Given the description of an element on the screen output the (x, y) to click on. 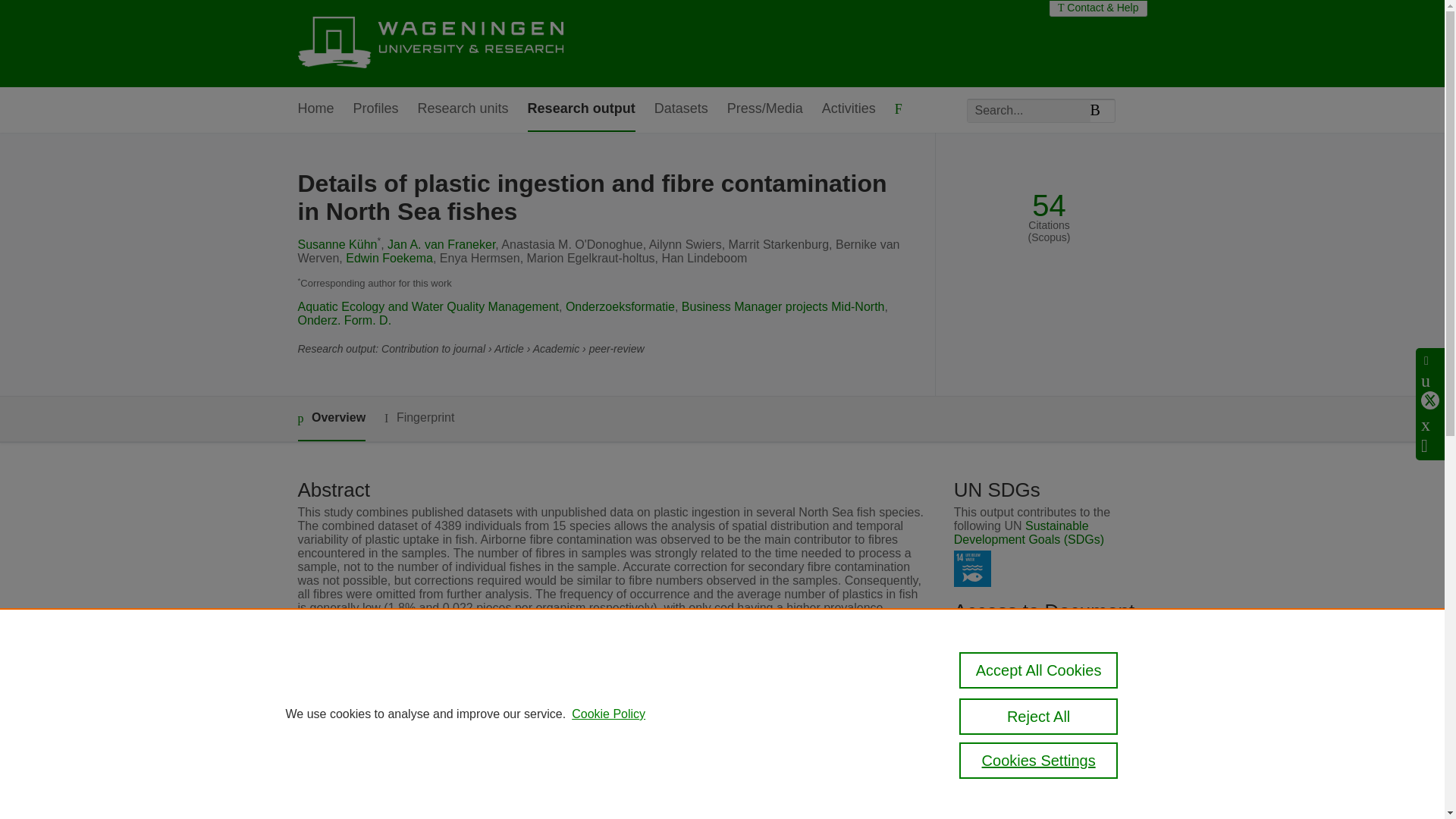
Fingerprint (419, 417)
SDG 14 - Life Below Water (972, 569)
Onderz. Form. D. (344, 319)
Edwin Foekema (389, 257)
Research units (462, 108)
Onderzoeksformatie (620, 306)
Jan A. van Franeker (441, 244)
54 (1048, 205)
Environmental Pollution (573, 762)
